Given the description of an element on the screen output the (x, y) to click on. 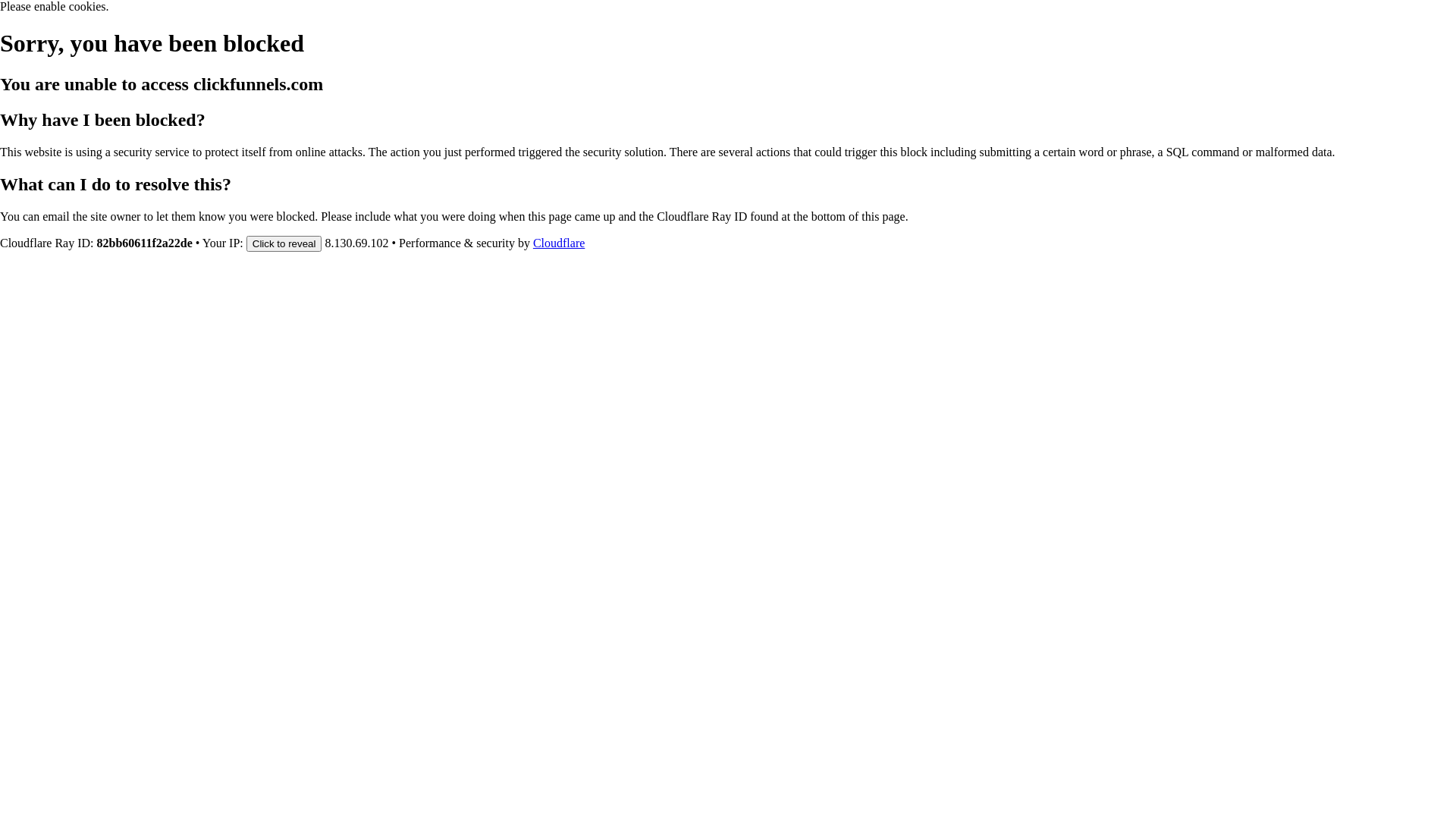
Click to reveal Element type: text (284, 243)
Cloudflare Element type: text (558, 242)
